Given the description of an element on the screen output the (x, y) to click on. 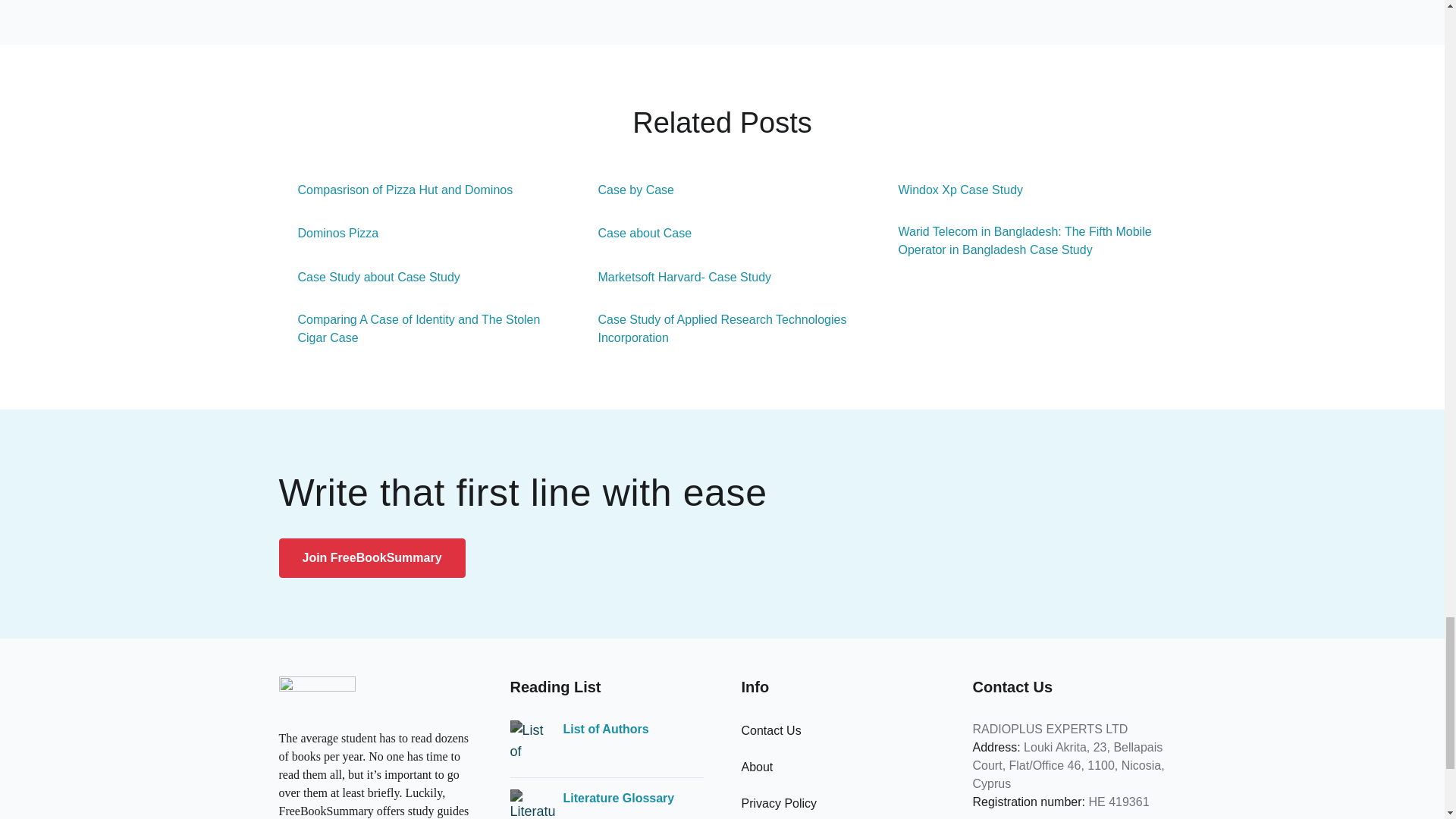
Case Study of Applied Research Technologies Incorporation (722, 329)
Case Study about Case Study (369, 277)
Literature Glossary (618, 798)
Comparing A Case of Identity and The Stolen Cigar Case (422, 329)
Dominos Pizza (328, 233)
Windox Xp Case Study (951, 189)
Compasrison of Pizza Hut and Dominos (396, 189)
About (757, 766)
Case by Case (627, 189)
Marketsoft Harvard- Case Study (675, 277)
List of Authors (604, 729)
Case about Case (636, 233)
Contact Us (771, 730)
